Given the description of an element on the screen output the (x, y) to click on. 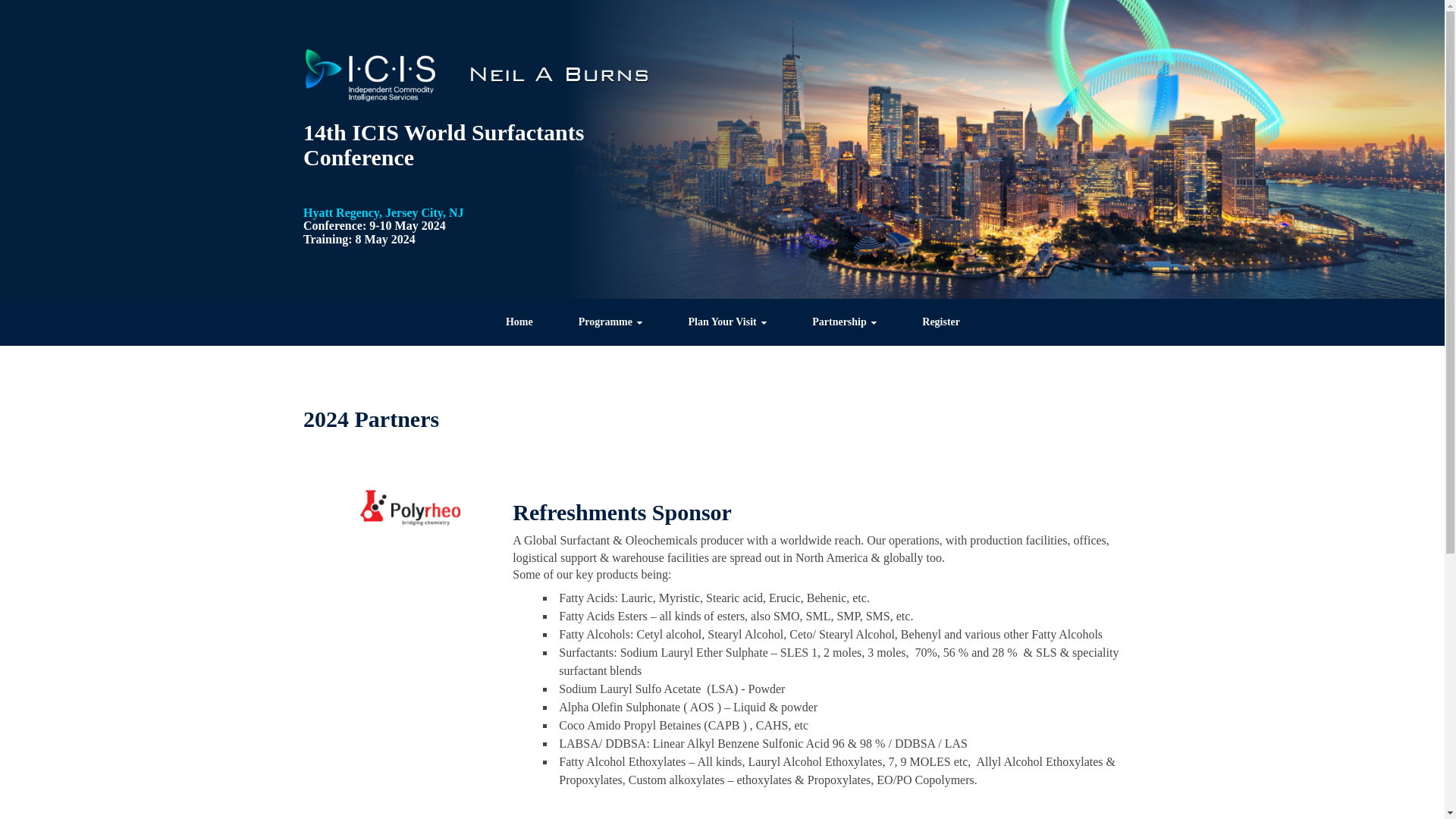
Register (940, 321)
Partnership (844, 321)
Programme (610, 321)
Plan Your Visit (727, 321)
Home (519, 321)
